Given the description of an element on the screen output the (x, y) to click on. 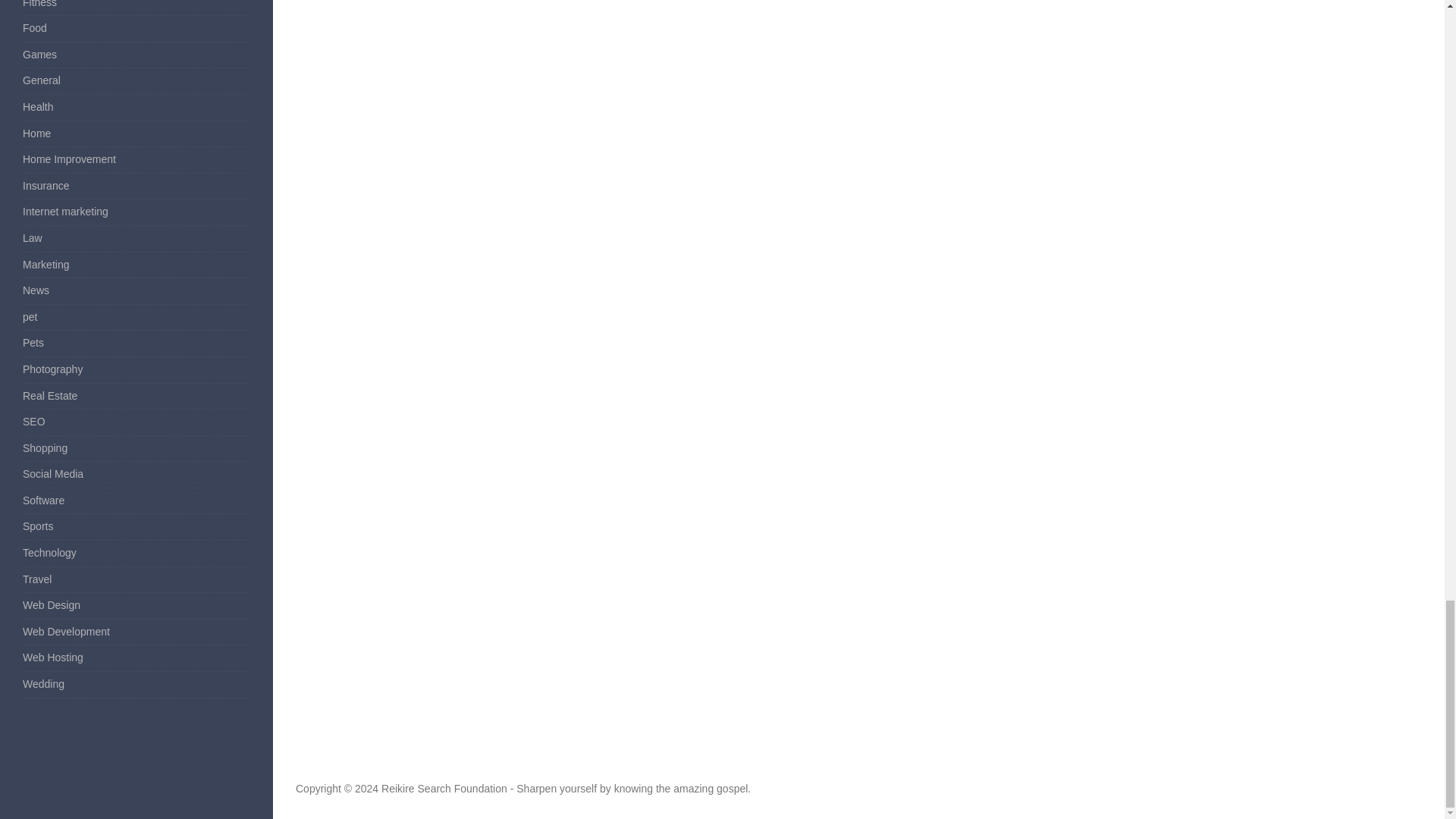
Reikire Search Foundation (443, 788)
